Given the description of an element on the screen output the (x, y) to click on. 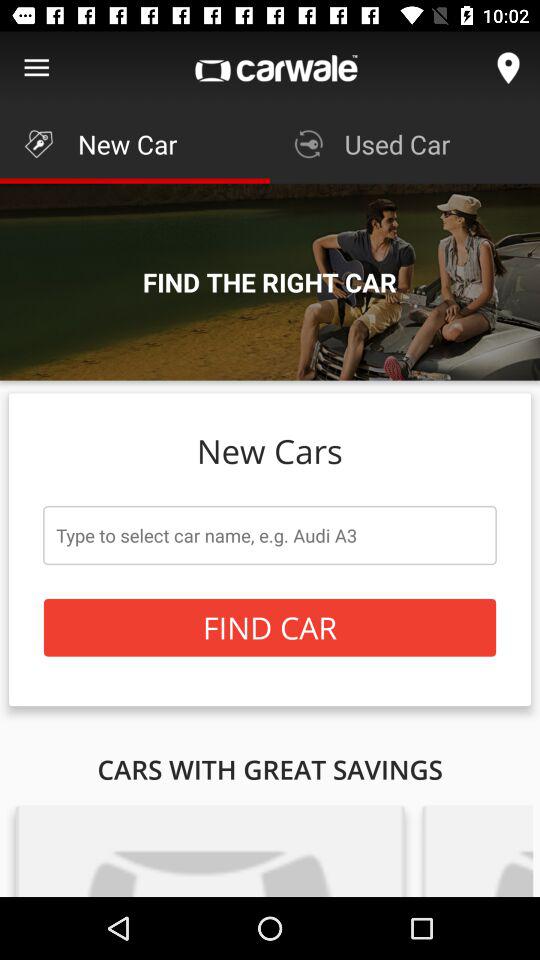
toggle main menu (36, 68)
